Given the description of an element on the screen output the (x, y) to click on. 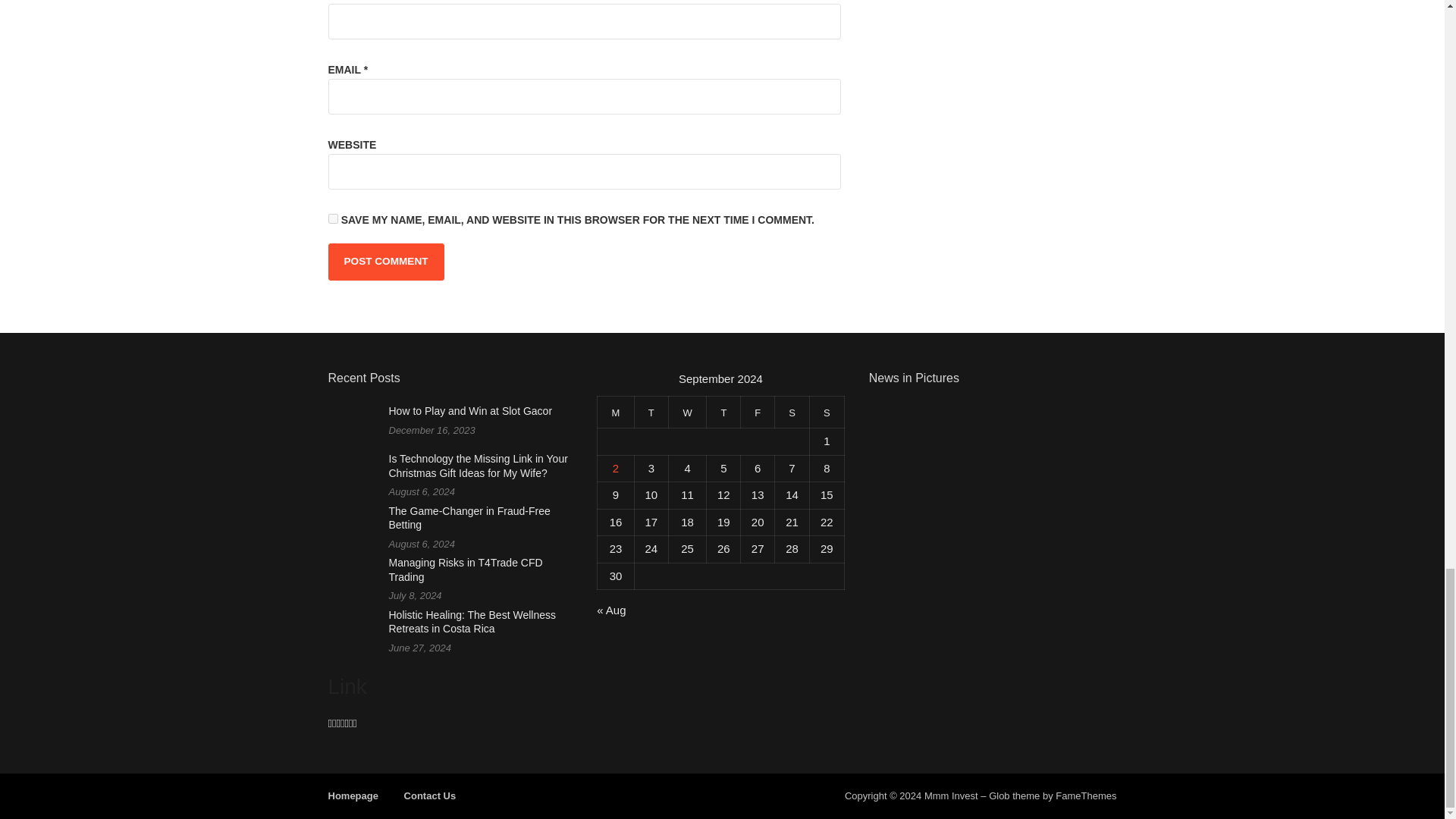
Post Comment (385, 261)
Post Comment (385, 261)
yes (332, 218)
